Given the description of an element on the screen output the (x, y) to click on. 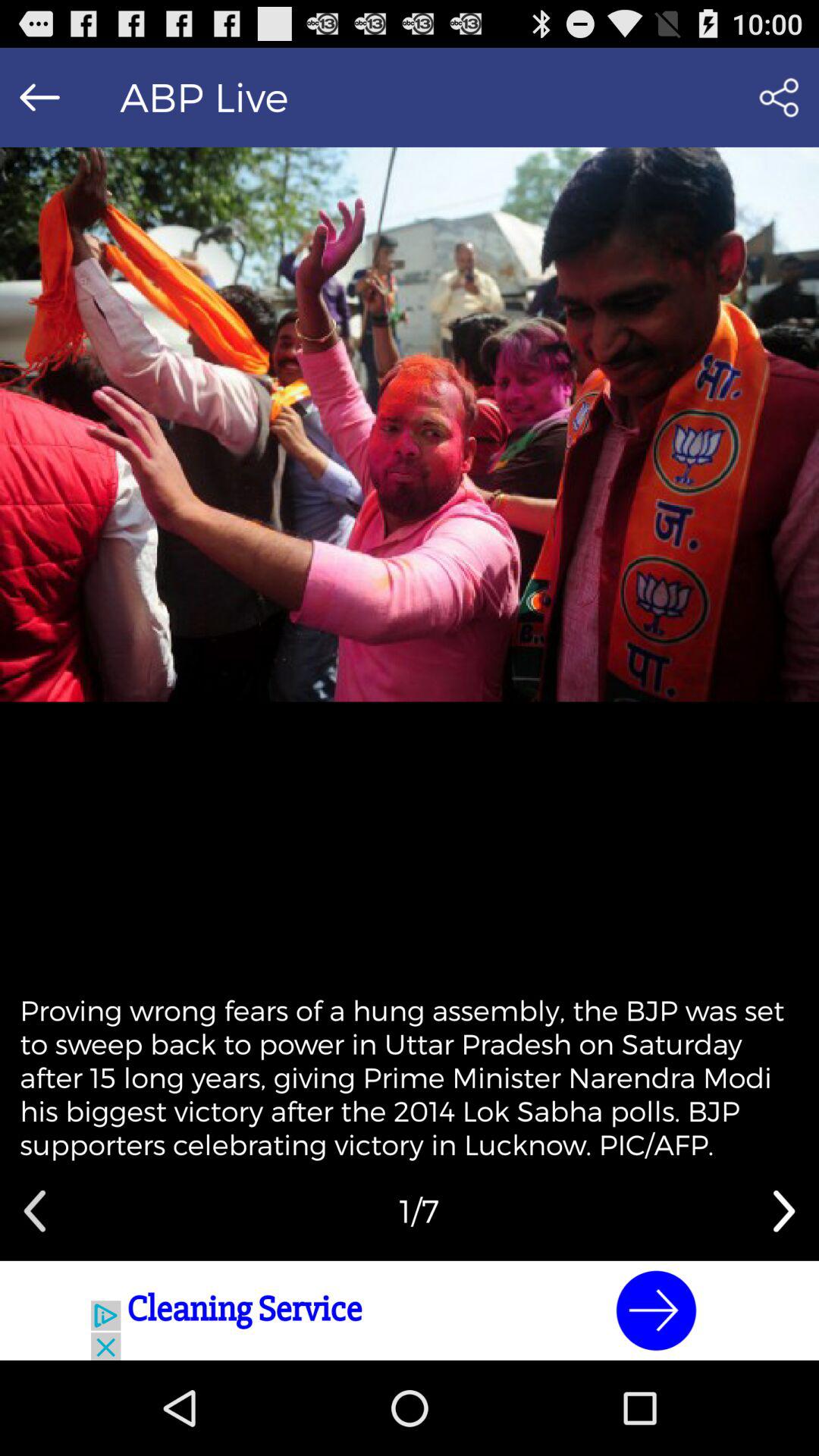
details about advertisement (409, 1310)
